Given the description of an element on the screen output the (x, y) to click on. 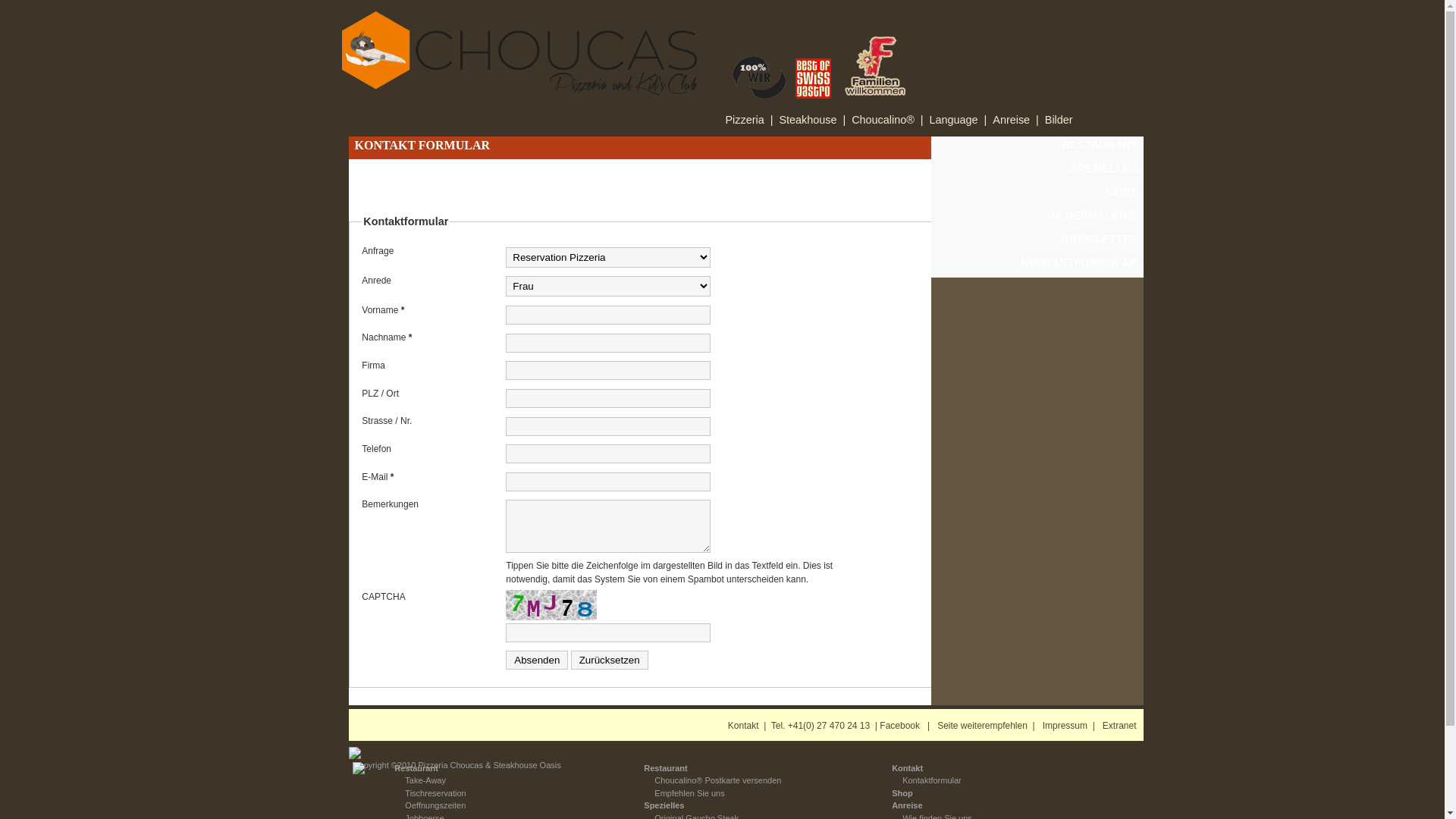
Steakhouse  | Element type: text (811, 119)
Take-Away Element type: text (419, 779)
Abonnieren Element type: text (967, 342)
Kontakt Element type: text (743, 725)
Empfehlen Sie uns Element type: text (683, 792)
Tischreservation Element type: text (429, 792)
Absenden Element type: text (536, 659)
Impressum Element type: text (1064, 725)
Seite weiterempfehlen Element type: text (982, 725)
Language  | Element type: text (958, 119)
Pizzeria  | Element type: text (748, 119)
Oeffnungszeiten Element type: text (429, 804)
Anreise  | Element type: text (1015, 119)
Extranet Element type: text (1119, 725)
Kontaktformular Element type: text (926, 779)
Facebook Element type: text (899, 725)
Bilder Element type: text (1058, 119)
